Given the description of an element on the screen output the (x, y) to click on. 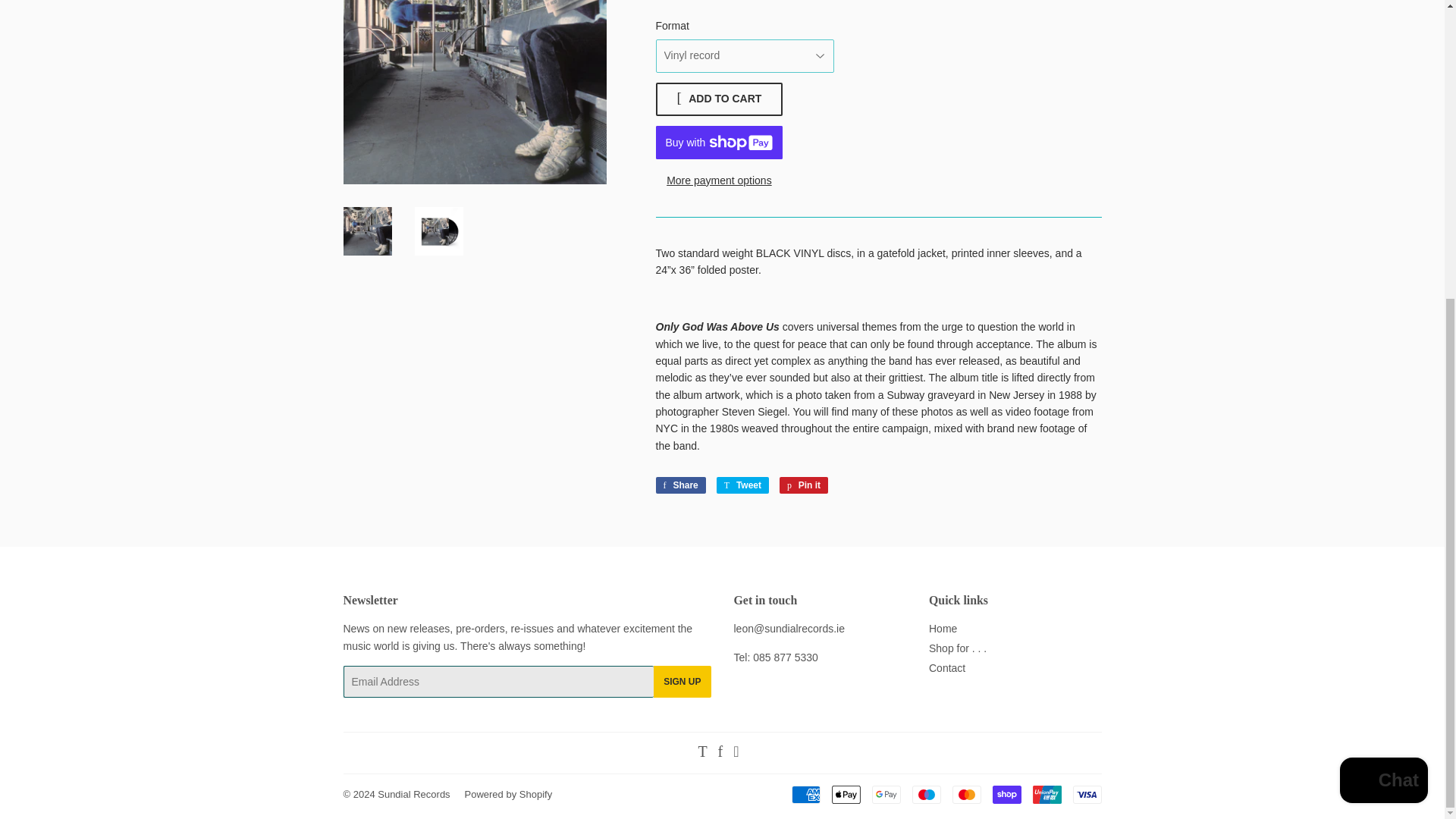
Pin on Pinterest (803, 484)
Google Pay (886, 794)
ADD TO CART (719, 99)
More payment options (719, 180)
Apple Pay (845, 794)
Shop Pay (1005, 794)
Union Pay (1046, 794)
American Express (806, 794)
Visa (1085, 794)
Share on Facebook (679, 484)
